Given the description of an element on the screen output the (x, y) to click on. 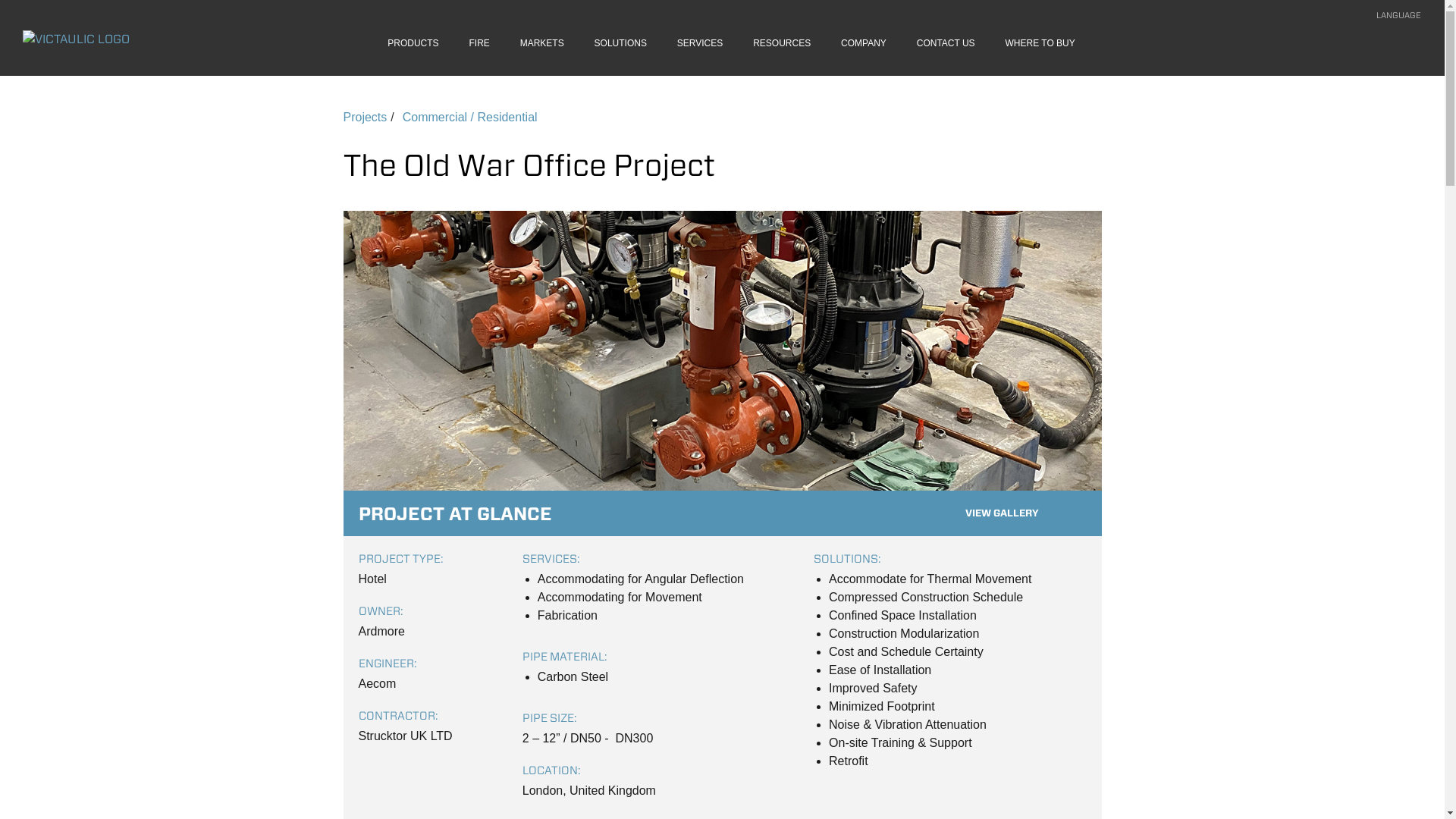
PRODUCTS (422, 53)
Add Resources to Package (1412, 48)
Search (1380, 48)
